Given the description of an element on the screen output the (x, y) to click on. 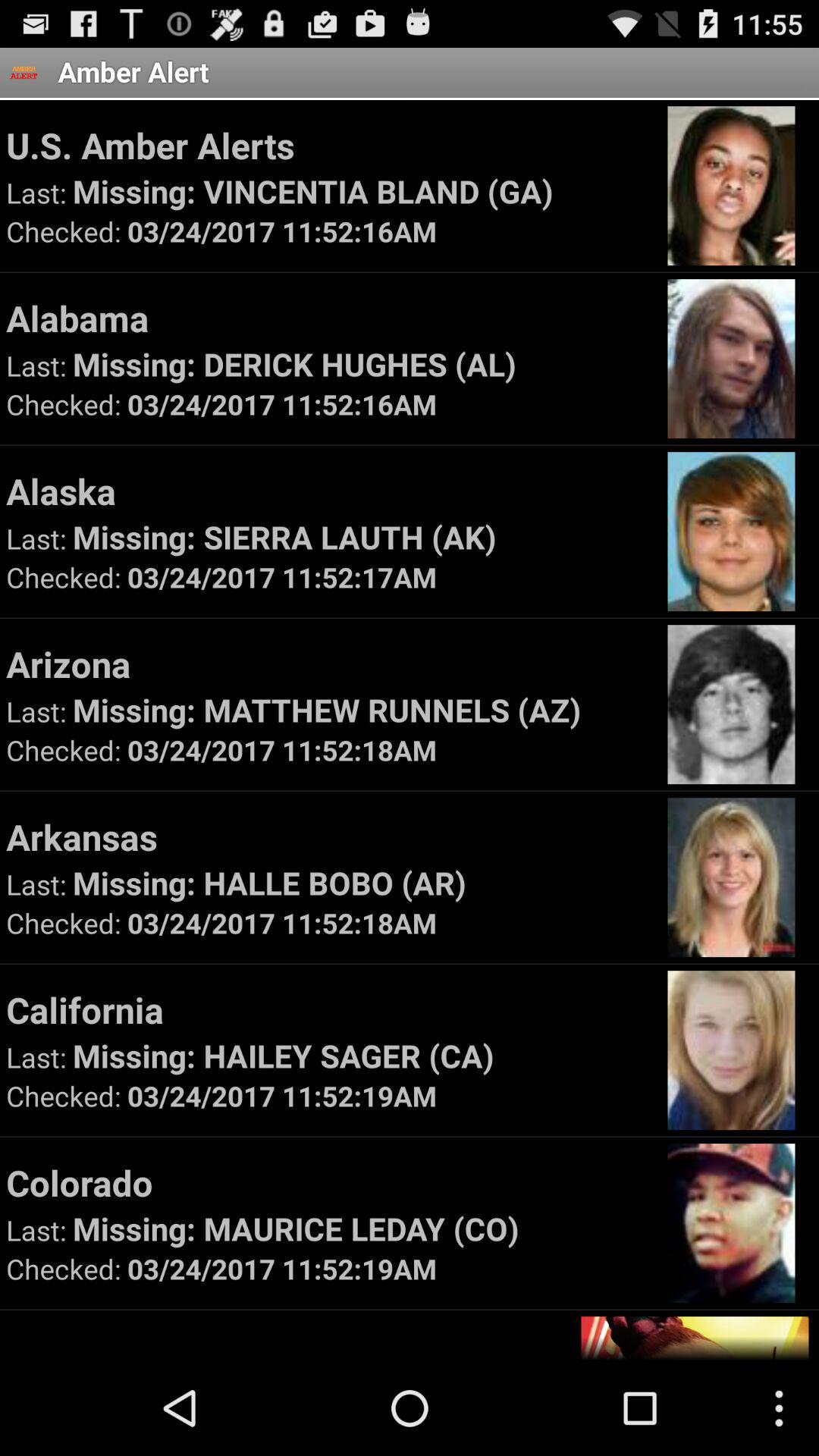
select the icon above the missing sierra lauth icon (329, 490)
